Given the description of an element on the screen output the (x, y) to click on. 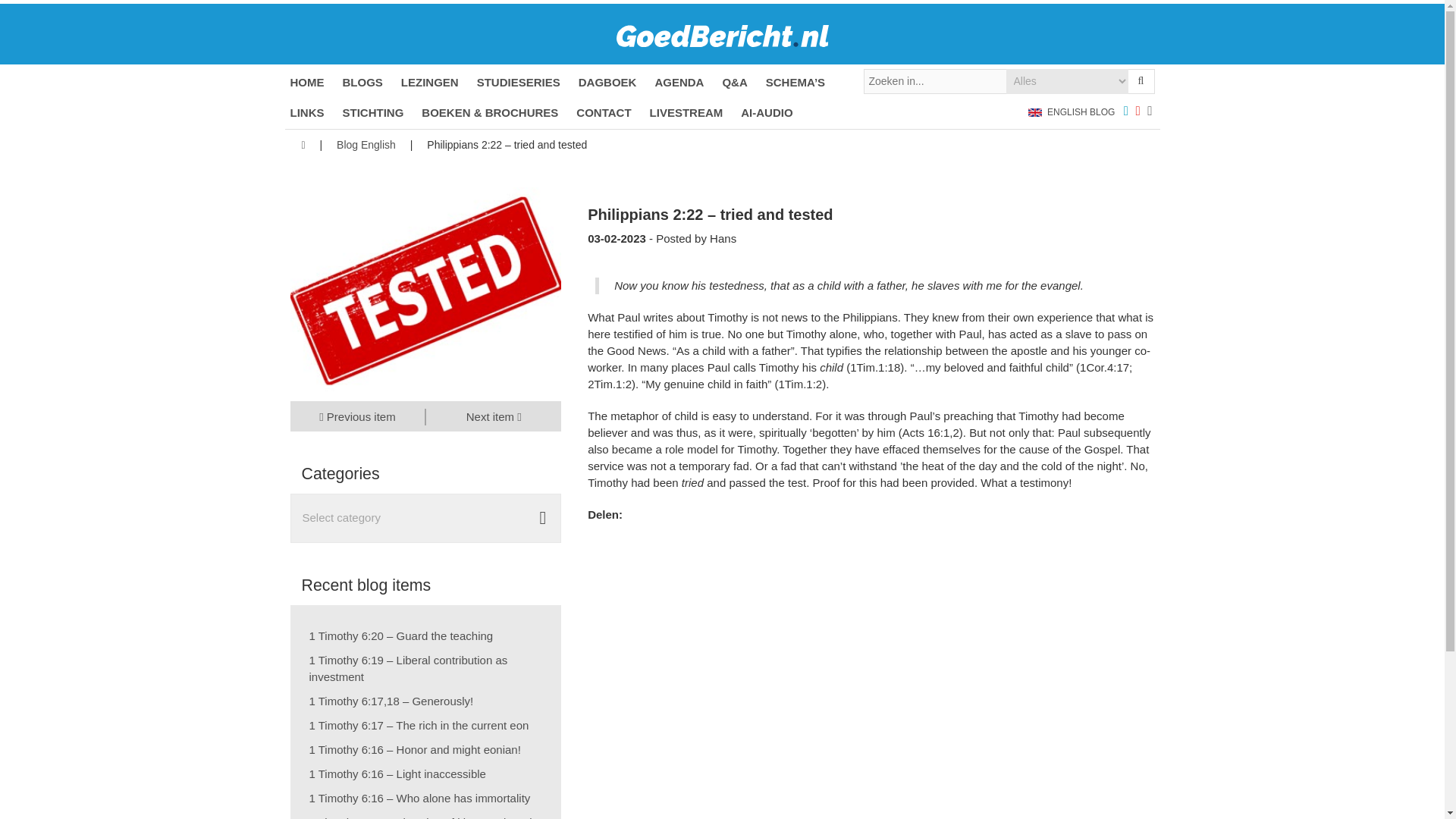
AI-AUDIO (766, 112)
STUDIESERIES (518, 82)
ENGLISH BLOG (1071, 112)
STICHTING (373, 112)
LINKS (306, 112)
LEZINGEN (429, 82)
LIVESTREAM (686, 112)
HOME (306, 82)
BLOGS (362, 82)
AGENDA (678, 82)
